Given the description of an element on the screen output the (x, y) to click on. 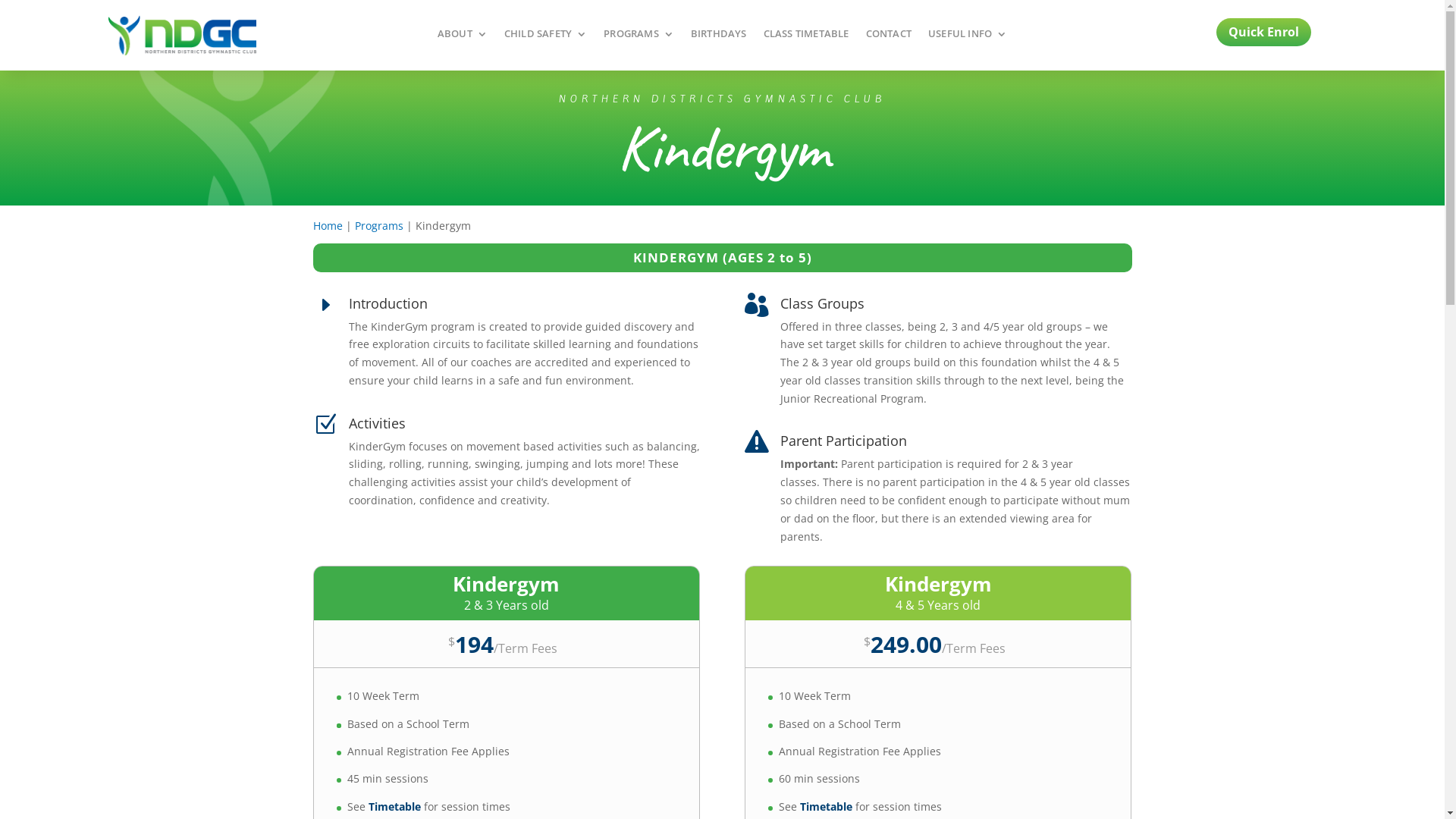
CLASS TIMETABLE Element type: text (806, 36)
Programs Element type: text (378, 225)
Quick Enrol Element type: text (1263, 32)
Timetable Element type: text (394, 806)
CHILD SAFETY Element type: text (545, 36)
Timetable Element type: text (826, 806)
BIRTHDAYS Element type: text (718, 36)
ABOUT Element type: text (462, 36)
Home Element type: text (327, 225)
USEFUL INFO Element type: text (967, 36)
PROGRAMS Element type: text (638, 36)
ndgc-logo Element type: hover (182, 35)
CONTACT Element type: text (888, 36)
